Given the description of an element on the screen output the (x, y) to click on. 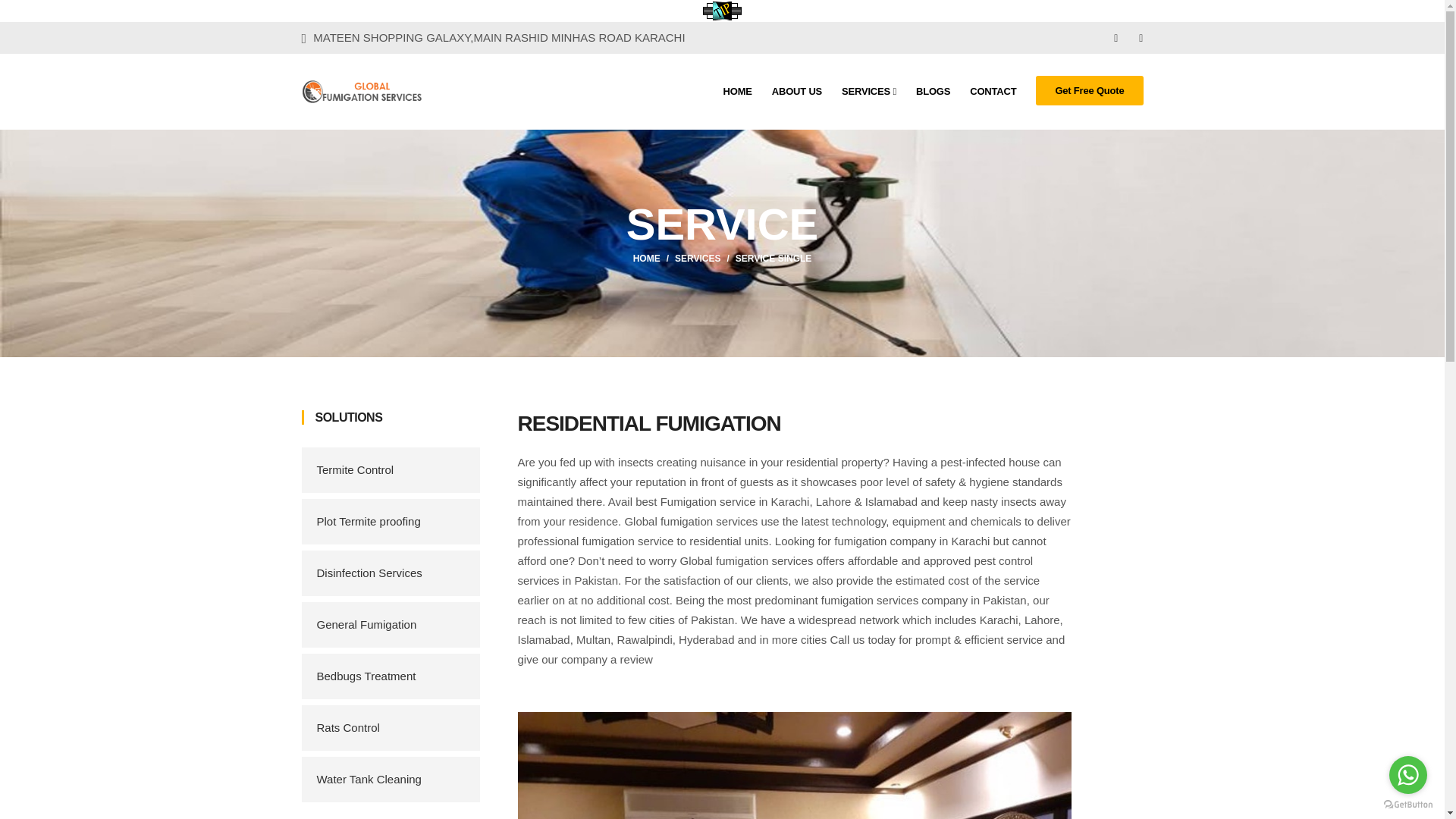
General Fumigation (390, 624)
Termite Control (390, 470)
Water Tank Cleaning (390, 779)
HOME (647, 258)
Facebook (1117, 37)
SERVICES (697, 258)
Bedbugs Treatment (390, 676)
SERVICES (868, 91)
Rats Control (390, 728)
Get Free Quote (1088, 90)
